Given the description of an element on the screen output the (x, y) to click on. 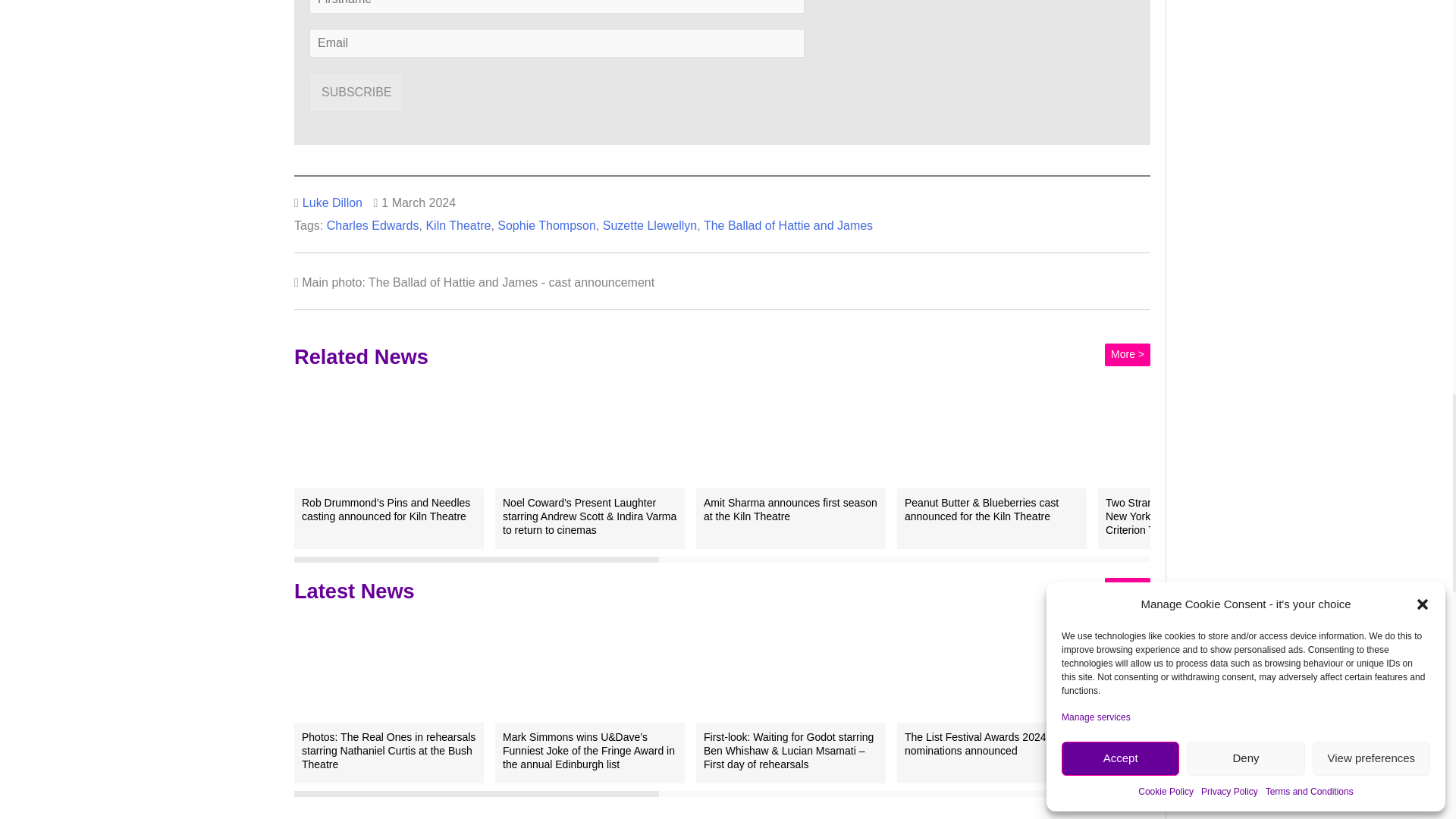
Posts by Luke Dillon (332, 202)
